Given the description of an element on the screen output the (x, y) to click on. 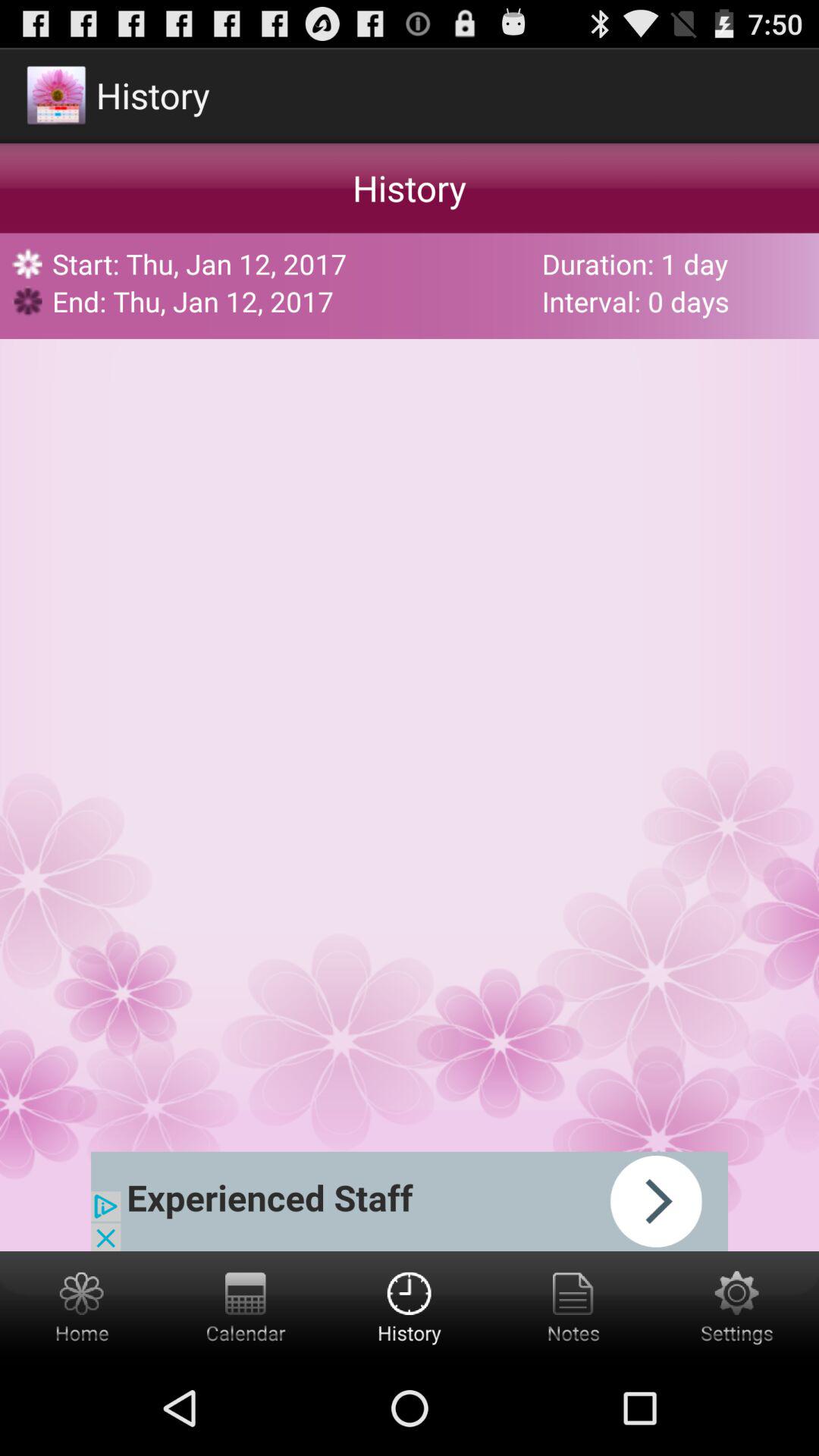
history display (409, 1305)
